Given the description of an element on the screen output the (x, y) to click on. 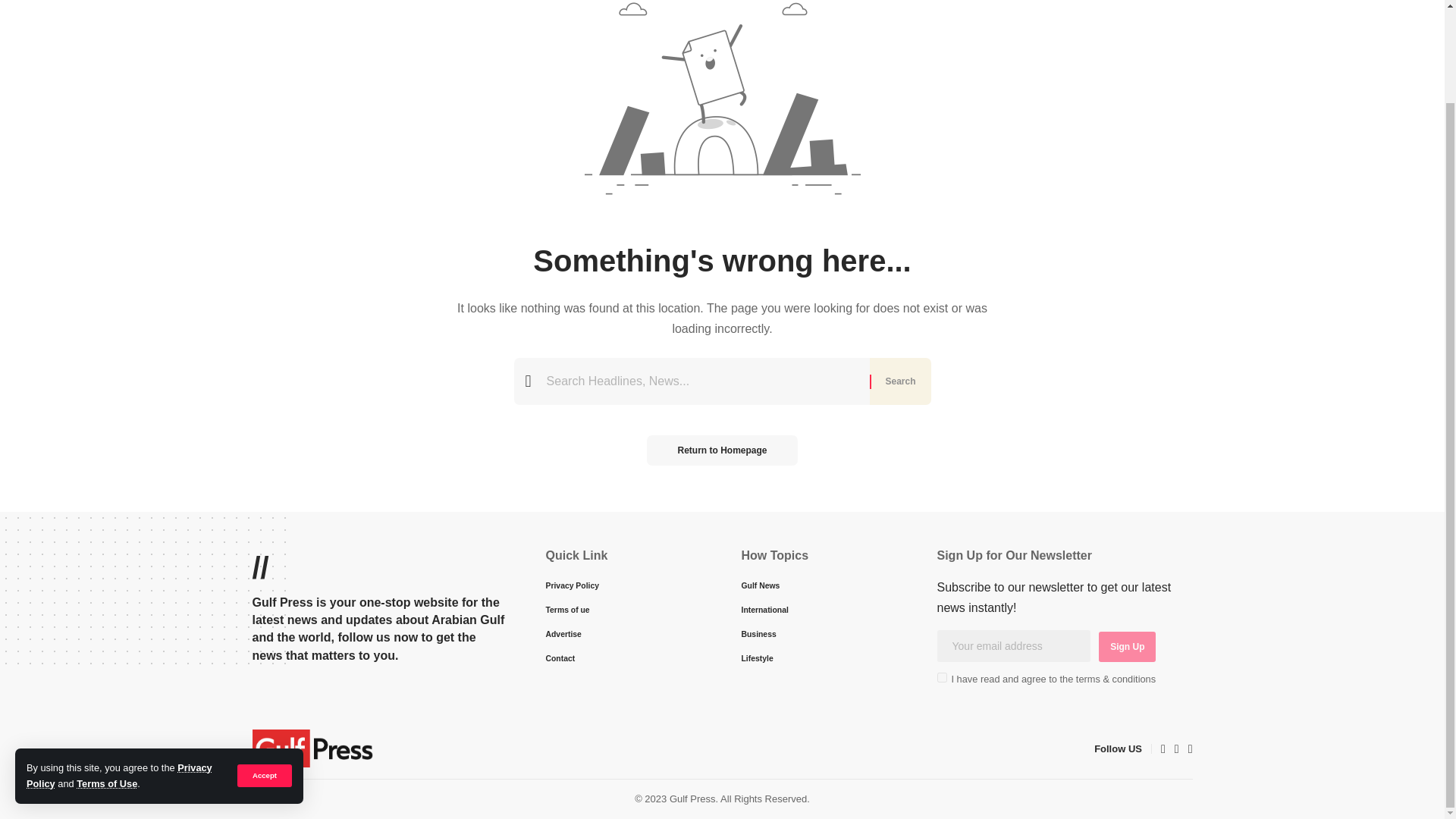
Terms of Use (106, 676)
Gulf Press (311, 748)
1 (942, 677)
Privacy Policy (119, 668)
Sign Up (1127, 646)
Search (899, 380)
Search (899, 380)
Accept (264, 668)
